Given the description of an element on the screen output the (x, y) to click on. 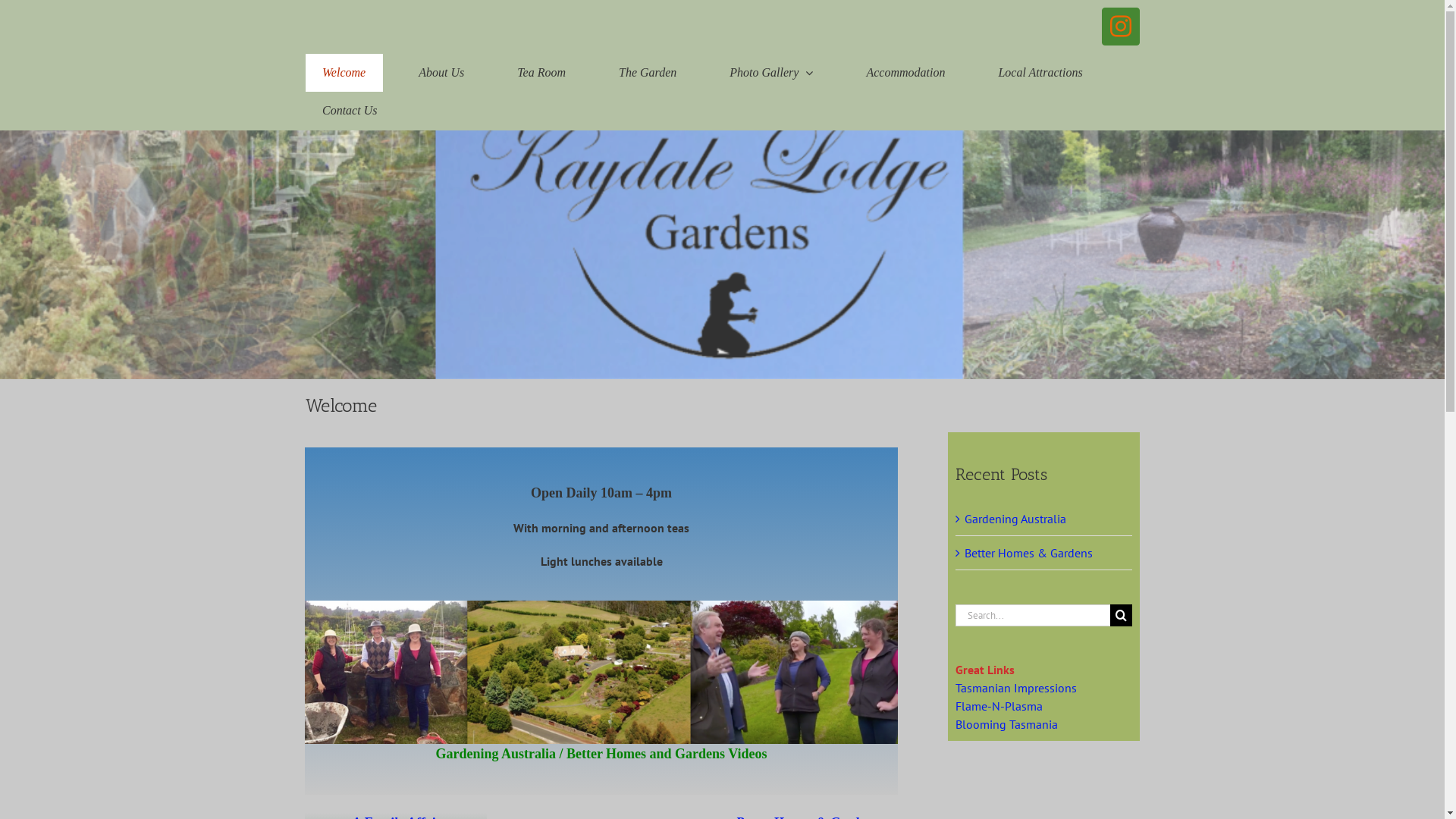
Tea Room Element type: text (541, 72)
Welcome Element type: text (343, 72)
Flame-N-Plasma Element type: text (998, 704)
Contact Us Element type: text (348, 110)
Better Homes & Gardens Element type: text (1028, 551)
Tasmanian Impressions Element type: text (1015, 686)
Local Attractions Element type: text (1040, 72)
Instagram Element type: text (1120, 26)
Blooming Tasmania Element type: text (1006, 723)
The Garden Element type: text (647, 72)
Gardening Australia Element type: text (1015, 518)
Accommodation Element type: text (905, 72)
link banner Element type: hover (600, 671)
About Us Element type: text (441, 72)
Photo Gallery Element type: text (771, 72)
